Given the description of an element on the screen output the (x, y) to click on. 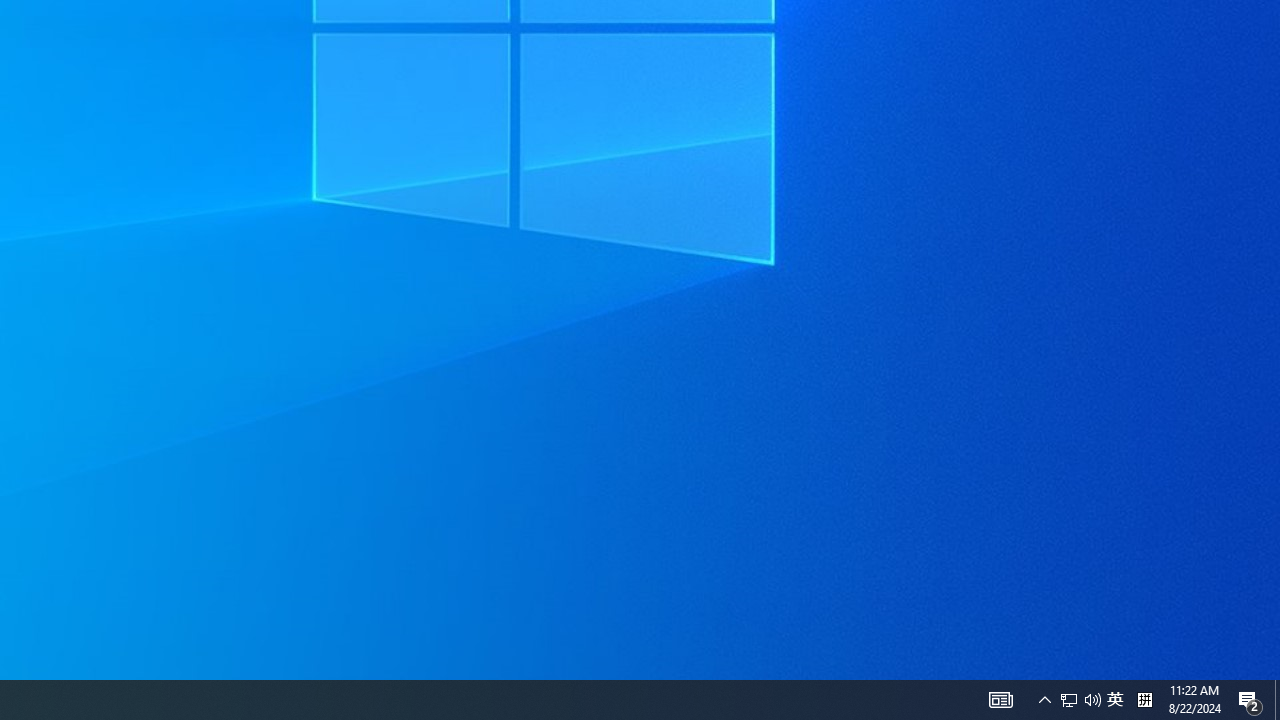
Notification Chevron (1044, 699)
Action Center, 2 new notifications (1250, 699)
AutomationID: 4105 (1000, 699)
User Promoted Notification Area (1080, 699)
Q2790: 100% (1092, 699)
Tray Input Indicator - Chinese (Simplified, China) (1144, 699)
Show desktop (1277, 699)
